Given the description of an element on the screen output the (x, y) to click on. 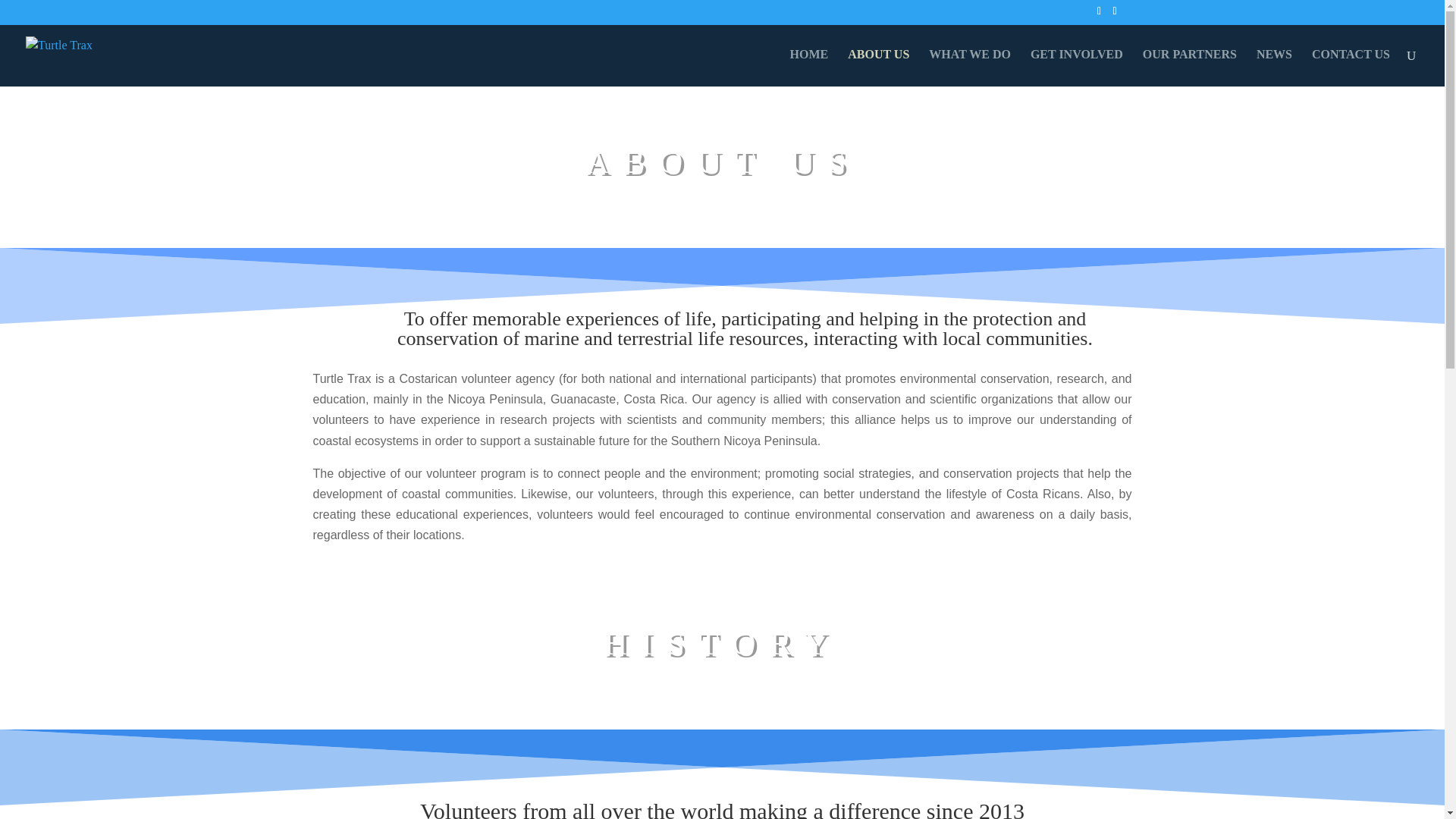
GET INVOLVED (1076, 67)
HOME (809, 67)
NEWS (1274, 67)
OUR PARTNERS (1189, 67)
CONTACT US (1350, 67)
WHAT WE DO (969, 67)
ABOUT US (877, 67)
